Given the description of an element on the screen output the (x, y) to click on. 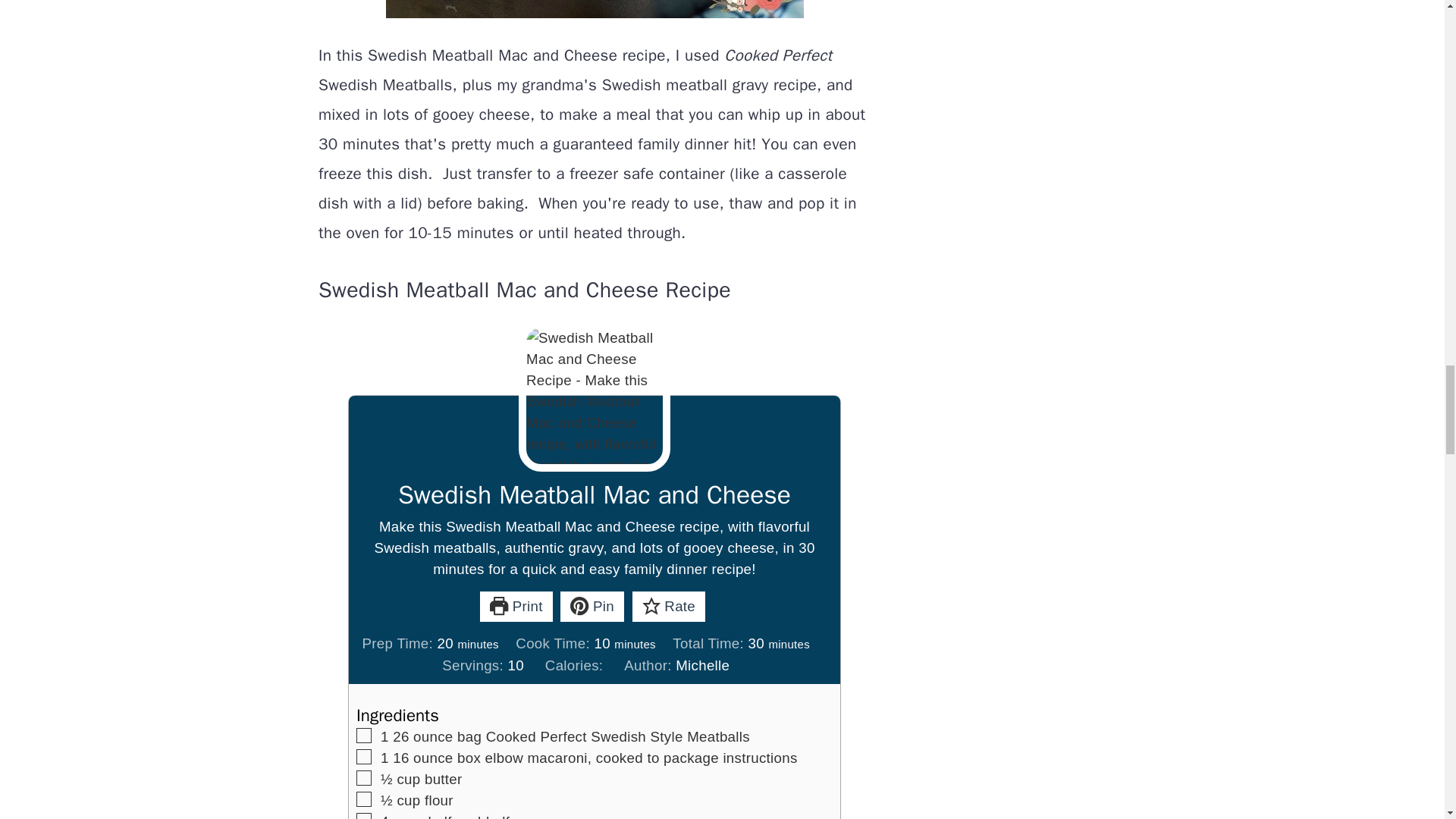
Pin (592, 606)
Rate (668, 606)
Print (516, 606)
